Given the description of an element on the screen output the (x, y) to click on. 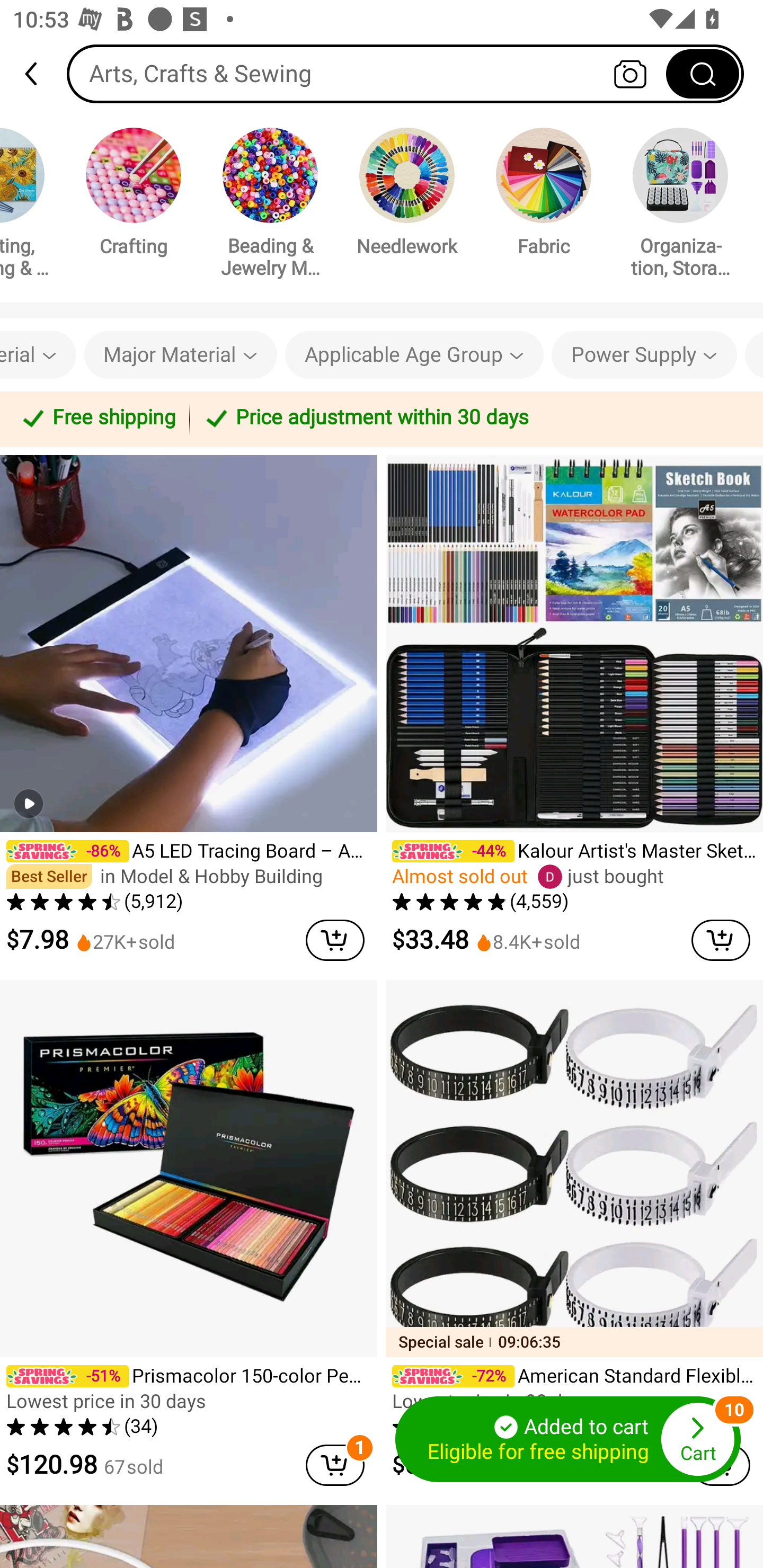
back (39, 73)
Arts, Crafts & Sewing (405, 73)
Crafting (133, 195)
Beading & Jewelry Making (269, 205)
Needlework (406, 195)
Fabric (543, 195)
Organization, Storage & Transport (680, 205)
Major Material (179, 354)
Applicable Age Group (414, 354)
Power Supply (644, 354)
Free shipping (97, 418)
Price adjustment within 30 days (472, 418)
cart delete (334, 939)
cart delete (720, 939)
￼ Added to cart Eligible for free shipping Cart (567, 1439)
cart delete (334, 1465)
